Given the description of an element on the screen output the (x, y) to click on. 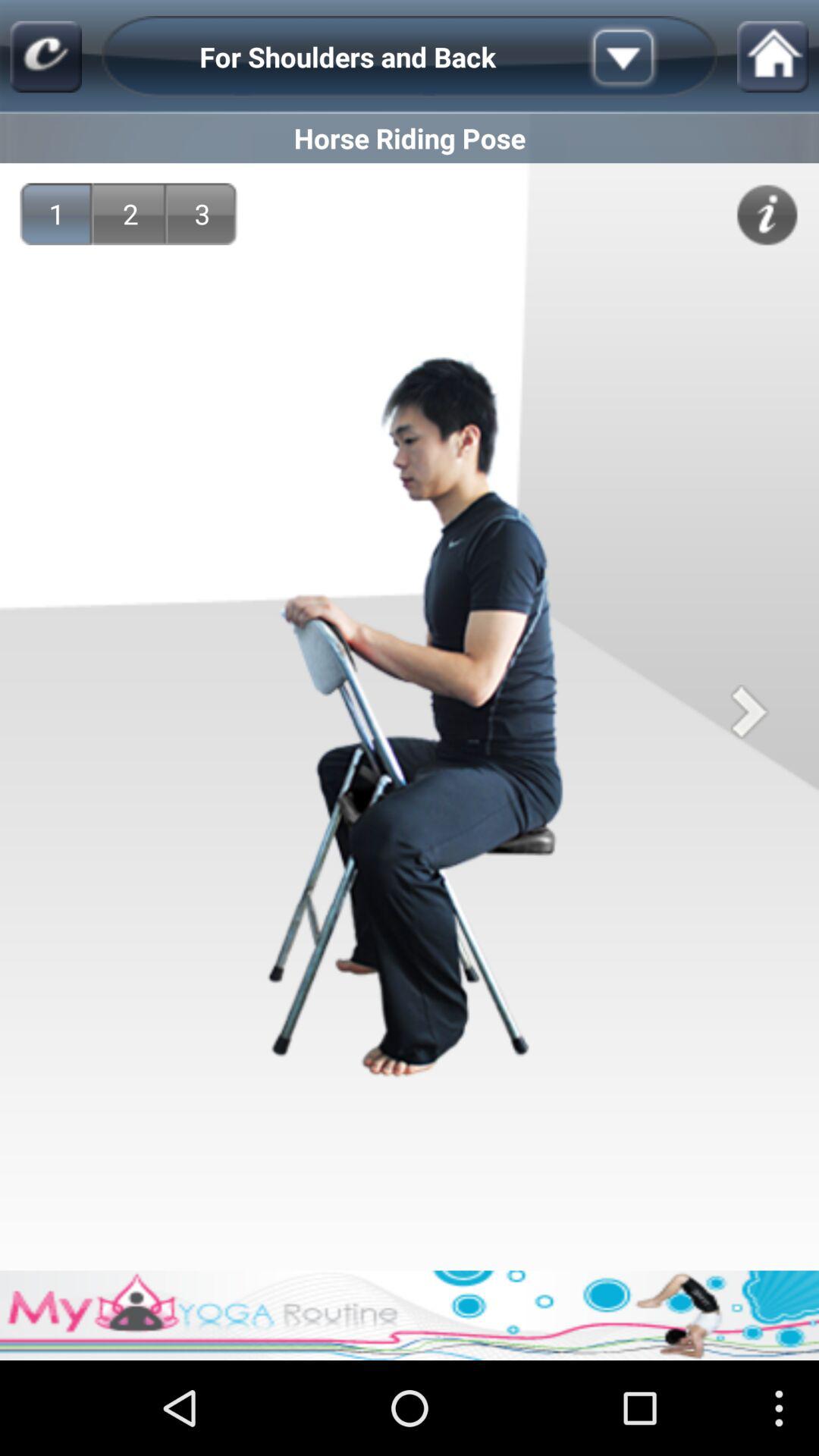
open icon above the horse riding pose app (646, 56)
